Given the description of an element on the screen output the (x, y) to click on. 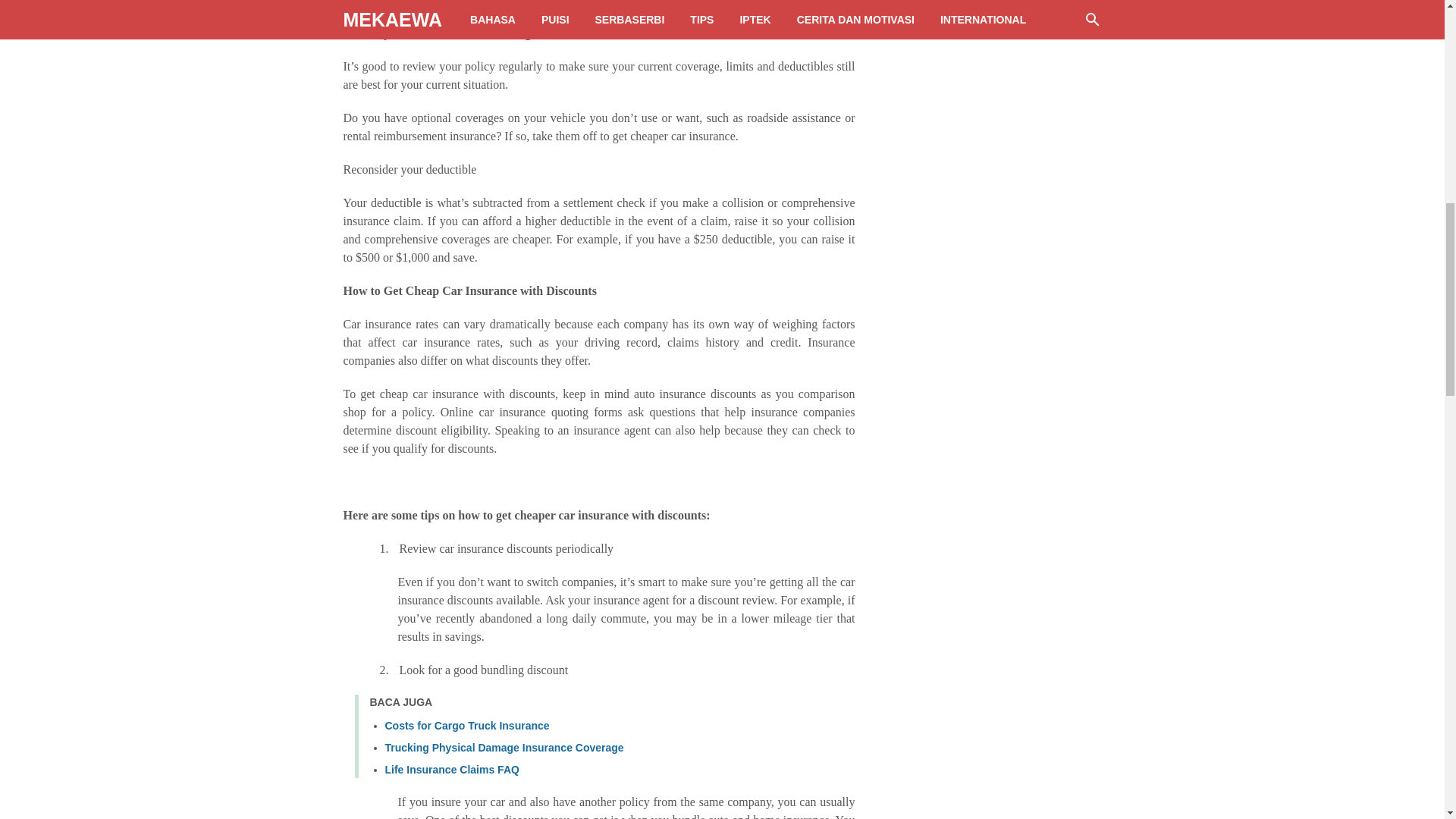
Life Insurance Claims FAQ (452, 769)
Trucking Physical Damage Insurance Coverage (504, 747)
Costs for Cargo Truck Insurance (467, 725)
